Given the description of an element on the screen output the (x, y) to click on. 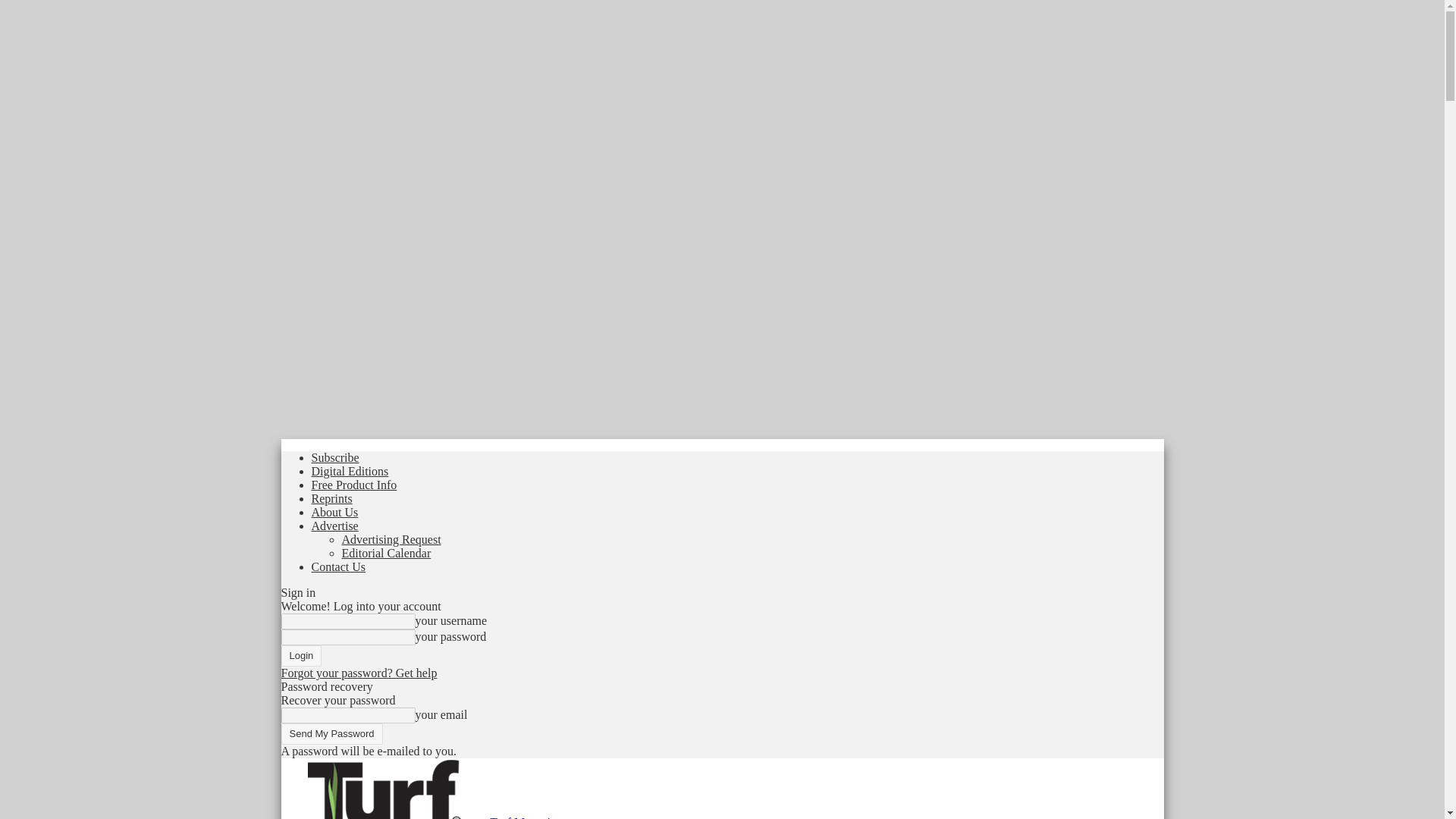
Turf Magazine (383, 788)
Digital Editions (349, 471)
Login (301, 655)
Send My Password (331, 733)
Subscribe (334, 457)
Free Product Info (353, 484)
